Given the description of an element on the screen output the (x, y) to click on. 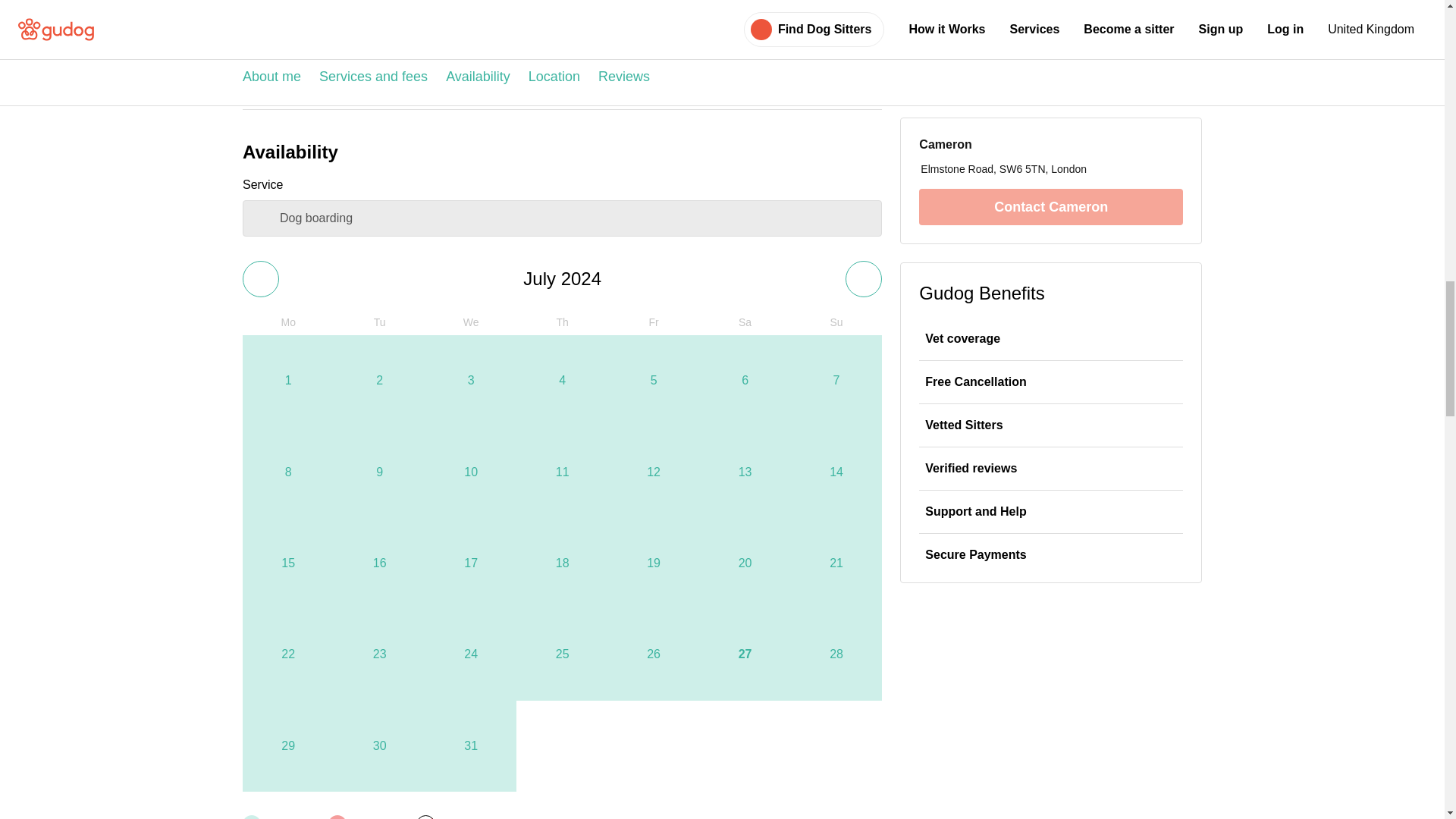
Thursday (561, 322)
Wednesday (471, 322)
Tuesday (379, 322)
Dog boarding (562, 217)
Saturday (744, 322)
Friday (654, 322)
Sunday (836, 322)
Monday (288, 322)
